Given the description of an element on the screen output the (x, y) to click on. 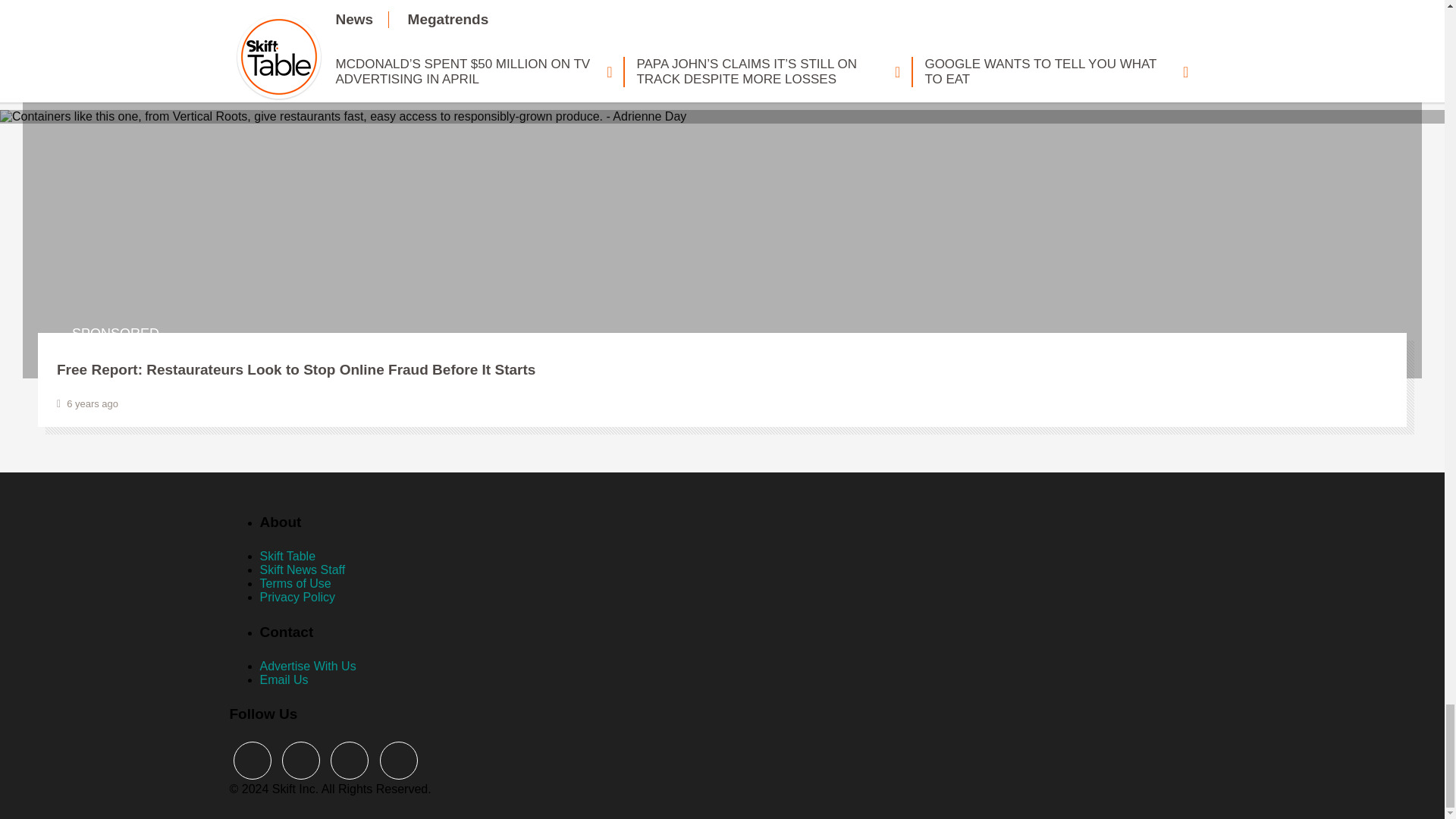
Advertise With Us (307, 666)
Email Us (283, 679)
Skift News Staff (302, 569)
Skift Table (287, 555)
Privacy Policy (296, 596)
Terms of Use (294, 583)
